Given the description of an element on the screen output the (x, y) to click on. 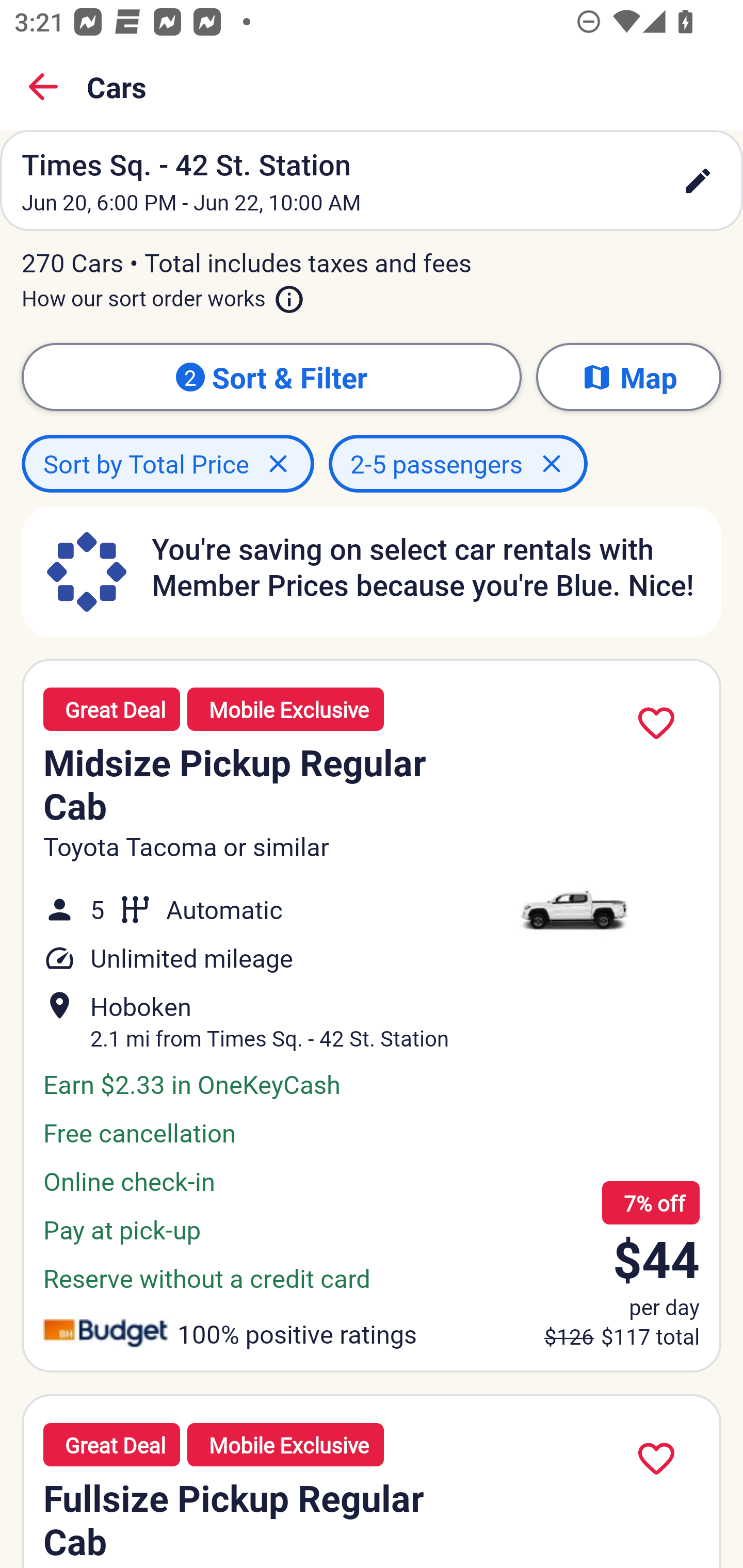
Back (43, 86)
edit (697, 180)
How our sort order works (163, 294)
2 Sort & Filter (271, 376)
Map (628, 376)
